Given the description of an element on the screen output the (x, y) to click on. 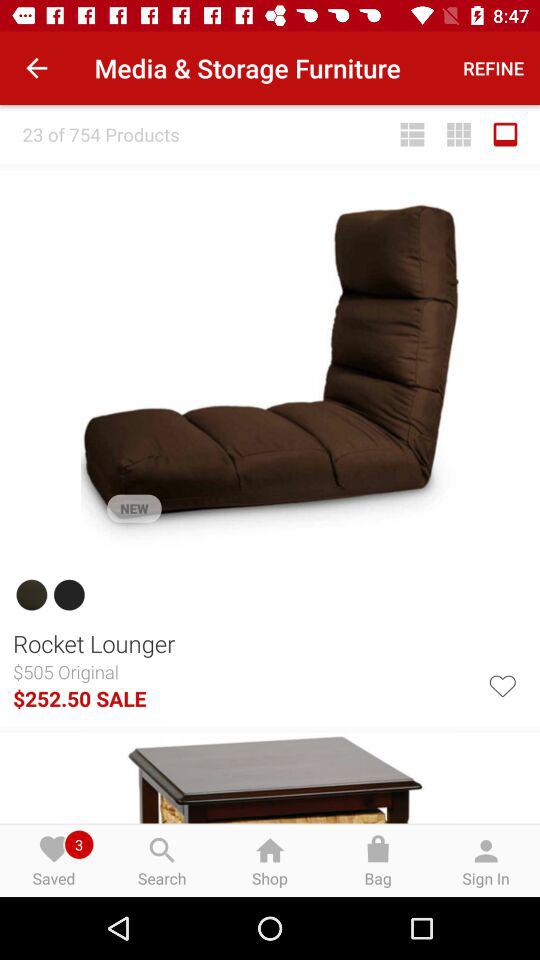
like click (501, 683)
